Given the description of an element on the screen output the (x, y) to click on. 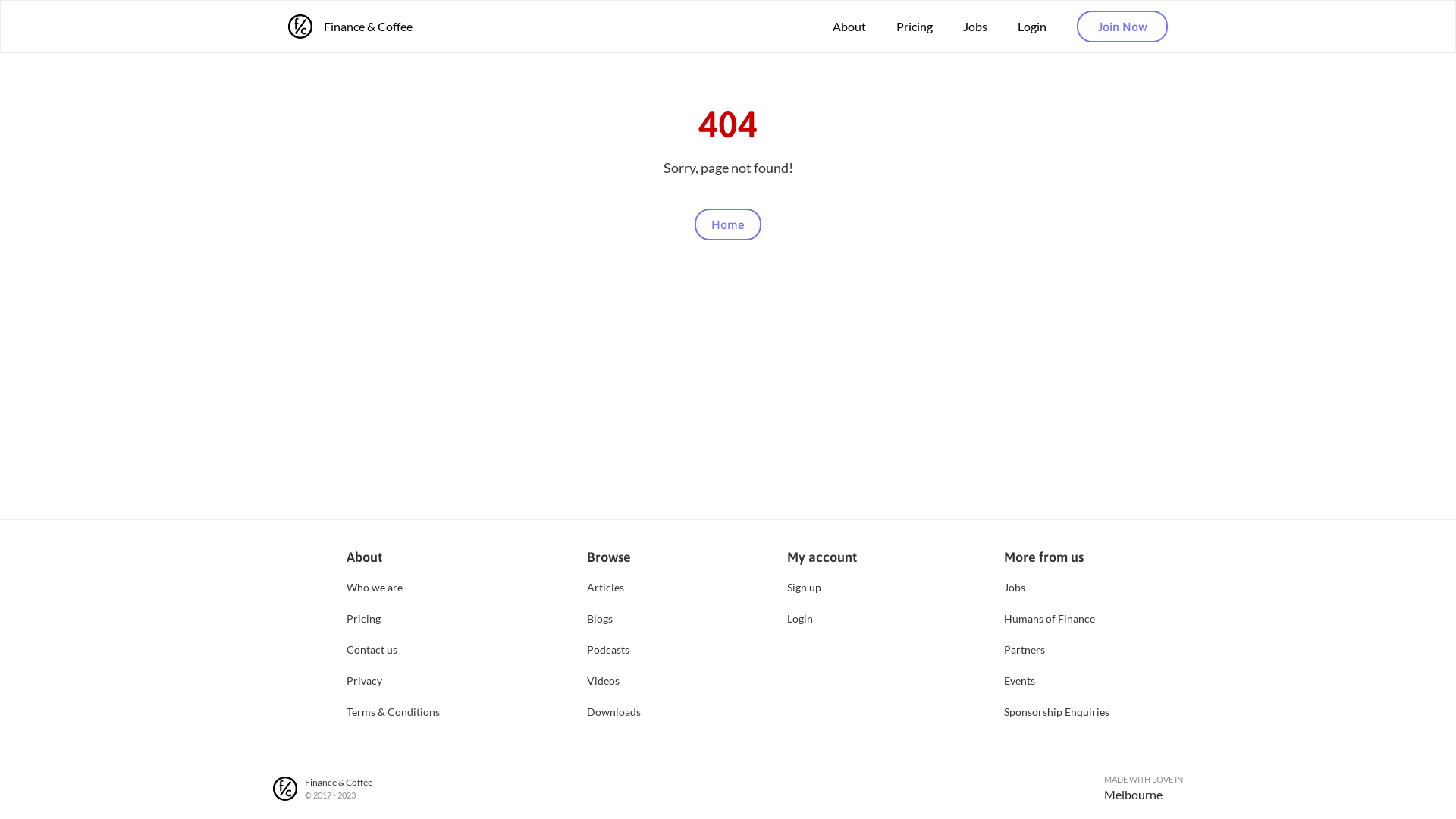
Podcasts Element type: text (613, 649)
Sign up Element type: text (821, 586)
Login Element type: text (1031, 26)
Privacy Element type: text (392, 679)
Partners Element type: text (1056, 649)
Jobs Element type: text (1056, 586)
Join Now Element type: text (1121, 26)
Pricing Element type: text (914, 26)
Home Element type: text (727, 224)
Login Element type: text (821, 617)
Pricing Element type: text (392, 617)
Events Element type: text (1056, 679)
About Element type: text (849, 26)
Humans of Finance Element type: text (1056, 617)
Videos Element type: text (613, 679)
Contact us Element type: text (392, 649)
Articles Element type: text (613, 586)
Downloads Element type: text (613, 711)
Terms & Conditions Element type: text (392, 711)
Blogs Element type: text (613, 617)
Jobs Element type: text (975, 26)
Sponsorship Enquiries Element type: text (1056, 711)
Finance & Coffee Element type: text (350, 26)
Who we are Element type: text (392, 586)
